Given the description of an element on the screen output the (x, y) to click on. 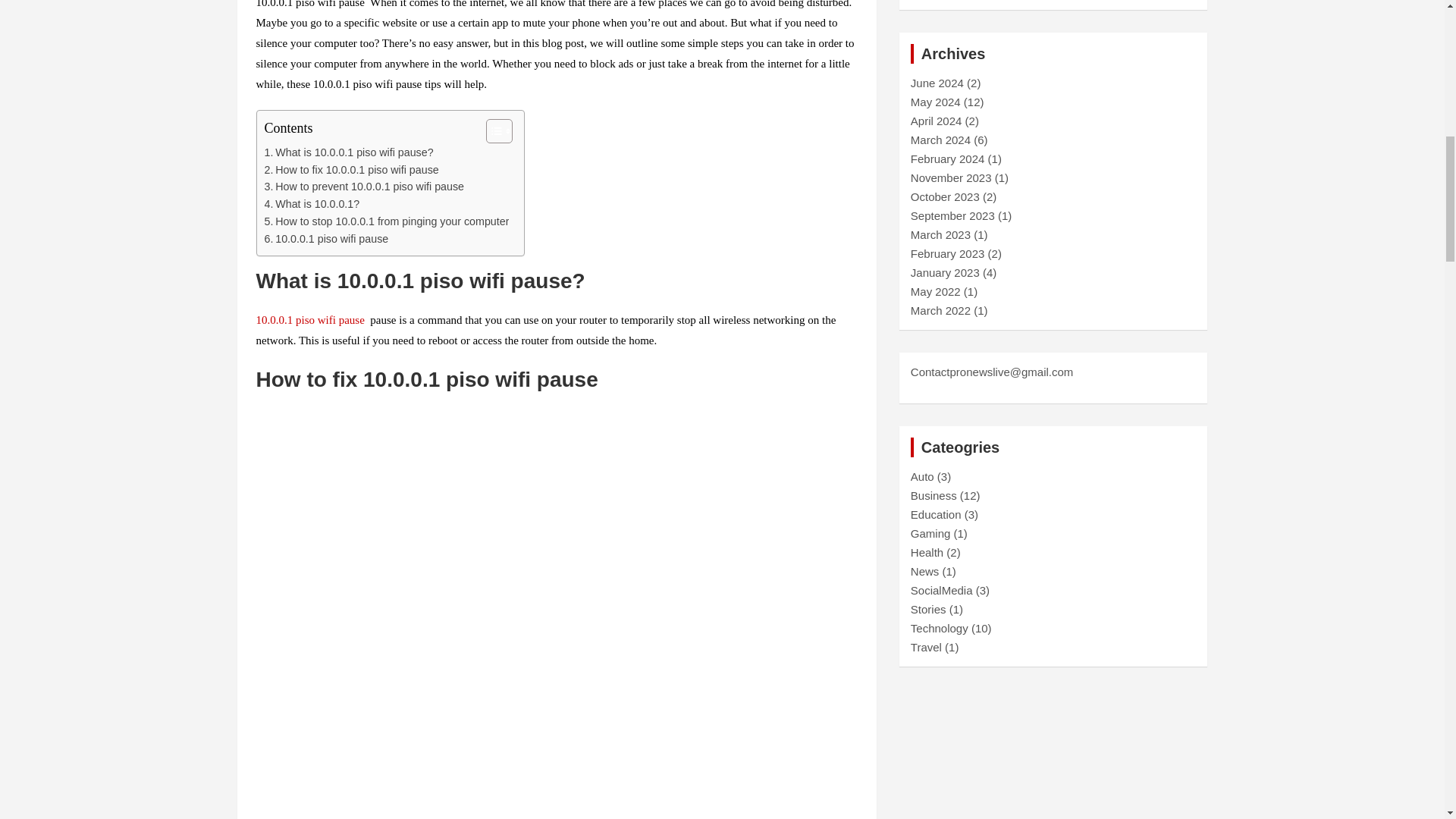
10.0.0.1 piso wifi pause (325, 239)
What is 10.0.0.1? (311, 203)
What is 10.0.0.1? (311, 203)
How to fix 10.0.0.1 piso wifi pause (350, 170)
How to fix 10.0.0.1 piso wifi pause (350, 170)
How to prevent 10.0.0.1 piso wifi pause (363, 186)
How to stop 10.0.0.1 from pinging your computer (385, 221)
How to prevent 10.0.0.1 piso wifi pause (363, 186)
How to stop 10.0.0.1 from pinging your computer (385, 221)
